Given the description of an element on the screen output the (x, y) to click on. 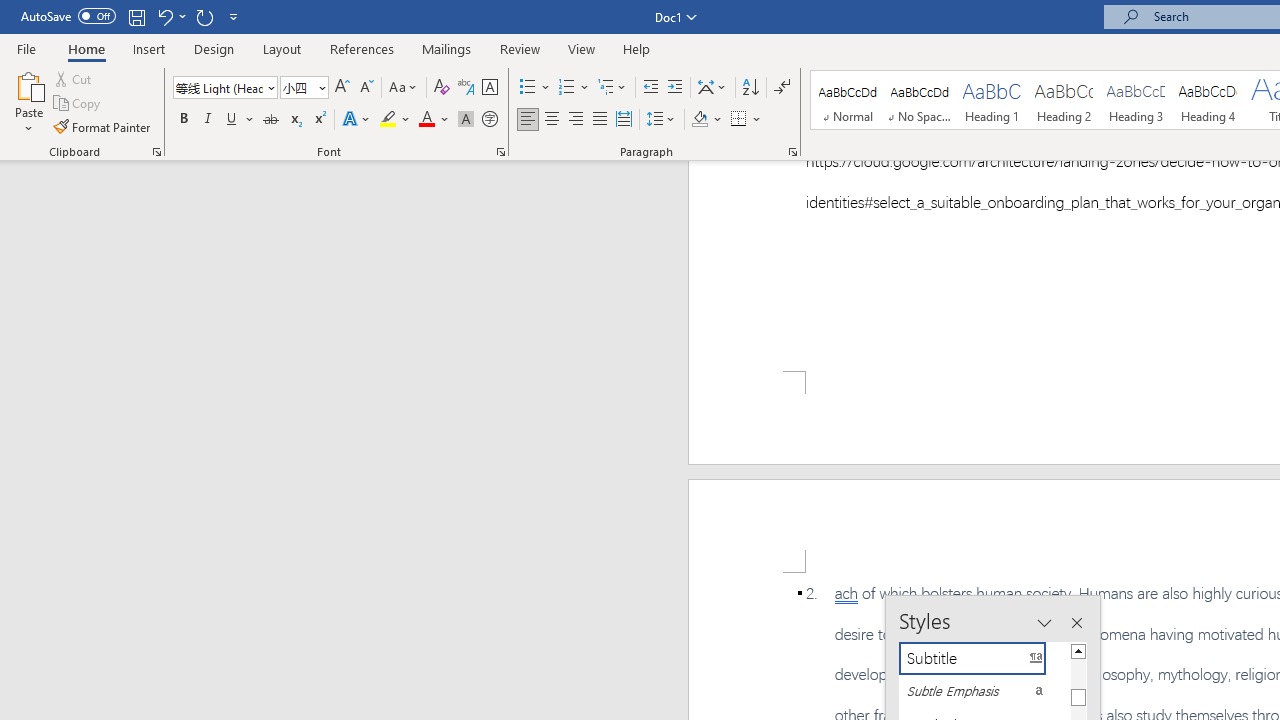
Numbering (573, 87)
Format Painter (103, 126)
Quick Access Toolbar (131, 16)
Show/Hide Editing Marks (781, 87)
Character Border (489, 87)
Character Shading (465, 119)
Font (224, 87)
Increase Indent (675, 87)
Mailings (447, 48)
Heading 4 (1208, 100)
Shrink Font (365, 87)
Strikethrough (270, 119)
Undo Apply Quick Style (164, 15)
Font... (500, 151)
